Given the description of an element on the screen output the (x, y) to click on. 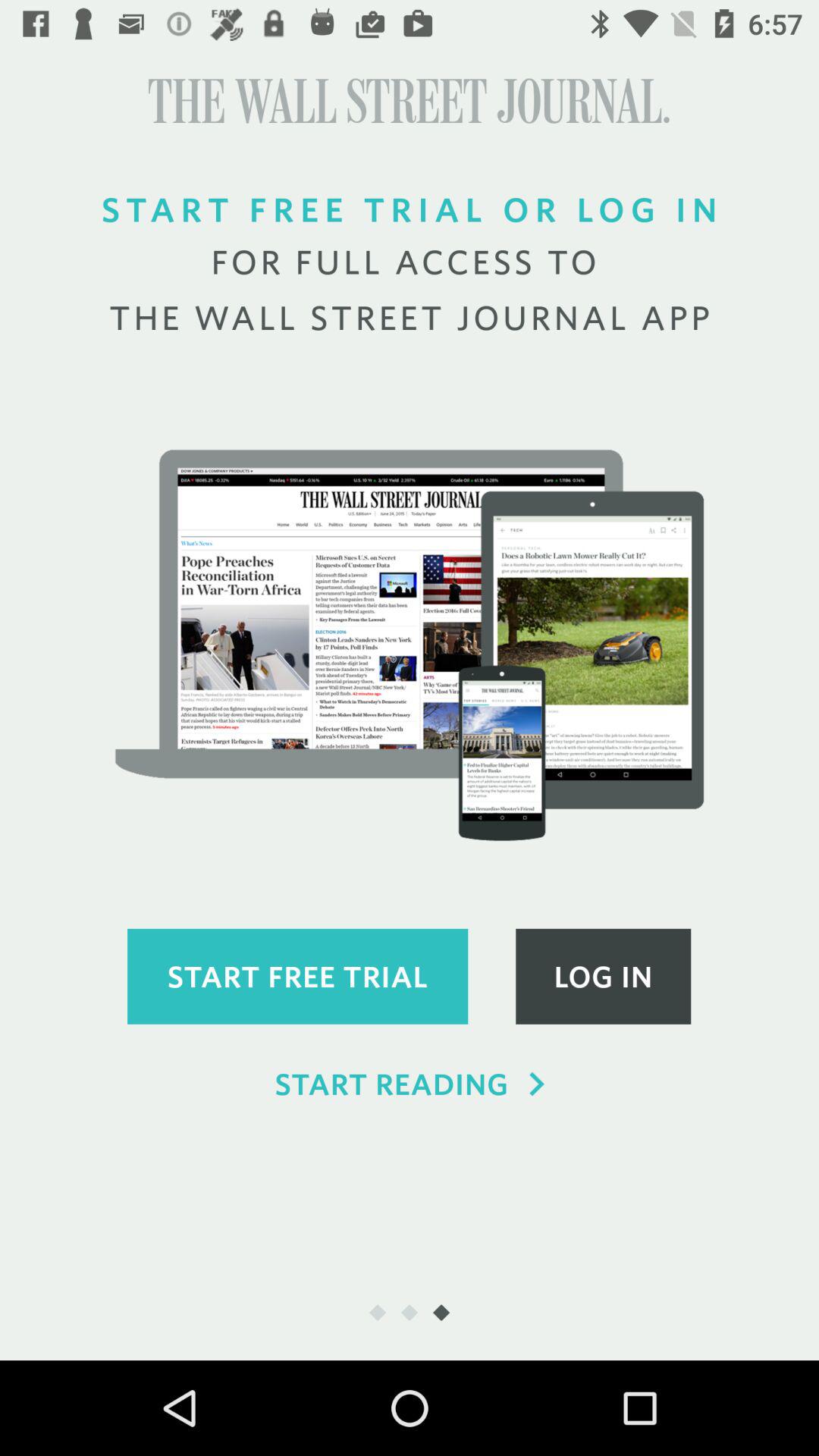
click on start reading (409, 1084)
go to the third slider (441, 1312)
